Given the description of an element on the screen output the (x, y) to click on. 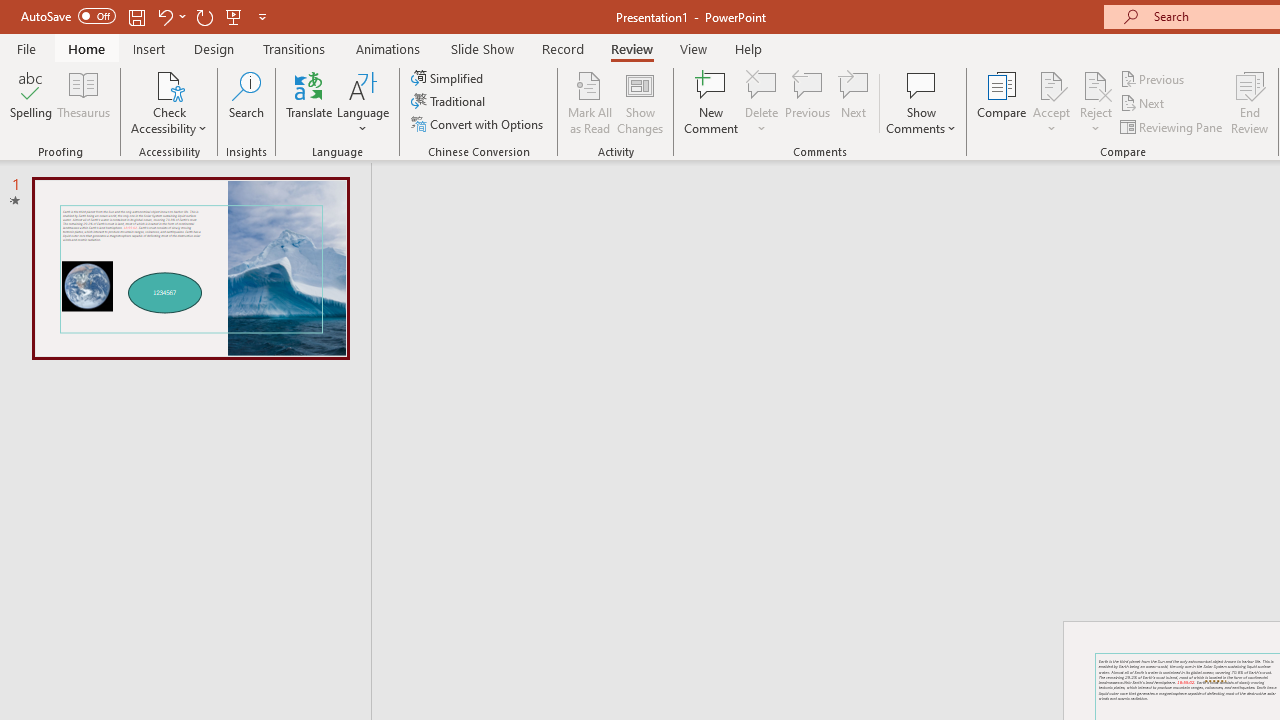
New Comment (711, 102)
Show Changes (639, 102)
Convert with Options... (479, 124)
Translate (309, 102)
Delete (762, 84)
Language (363, 102)
Simplified (449, 78)
Reviewing Pane (1172, 126)
Show Comments (921, 102)
Accept (1051, 102)
